Given the description of an element on the screen output the (x, y) to click on. 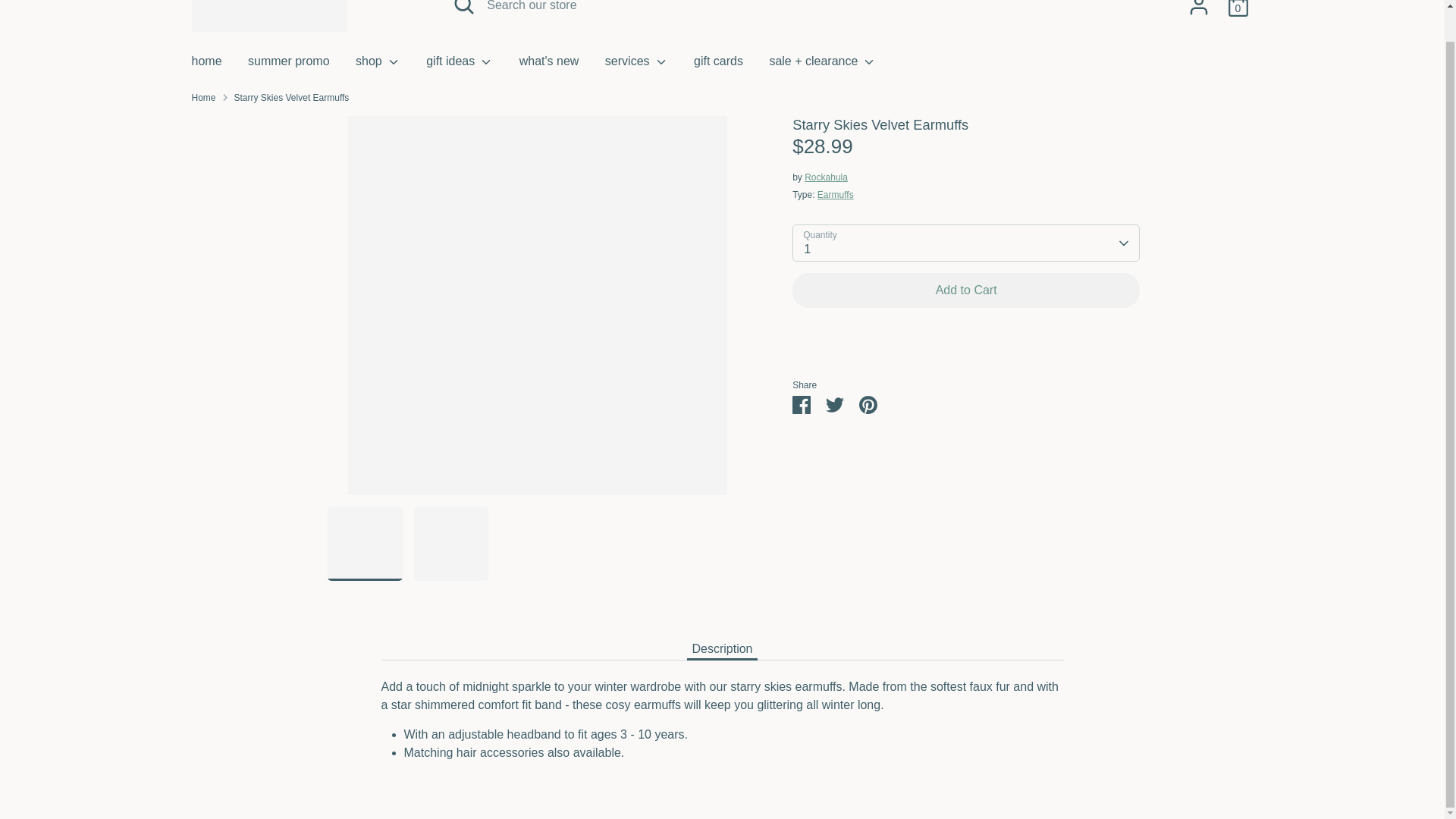
0 (1237, 10)
